Given the description of an element on the screen output the (x, y) to click on. 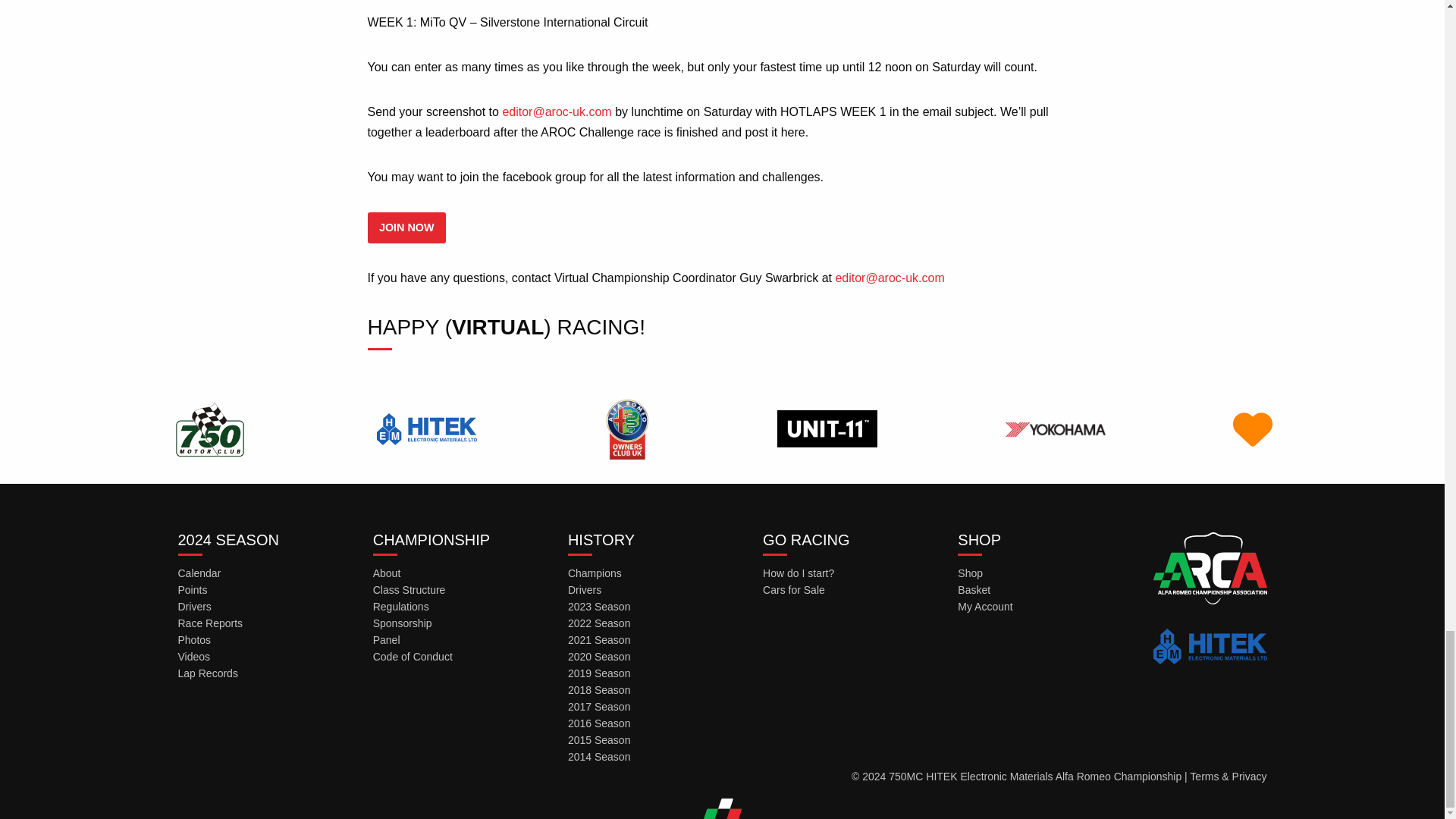
AROC (626, 427)
Yokohama (1055, 428)
HITEK (426, 427)
Axis Shift (826, 427)
British Motorsports Marshals Club (1252, 427)
750 Motor Club (209, 427)
